Given the description of an element on the screen output the (x, y) to click on. 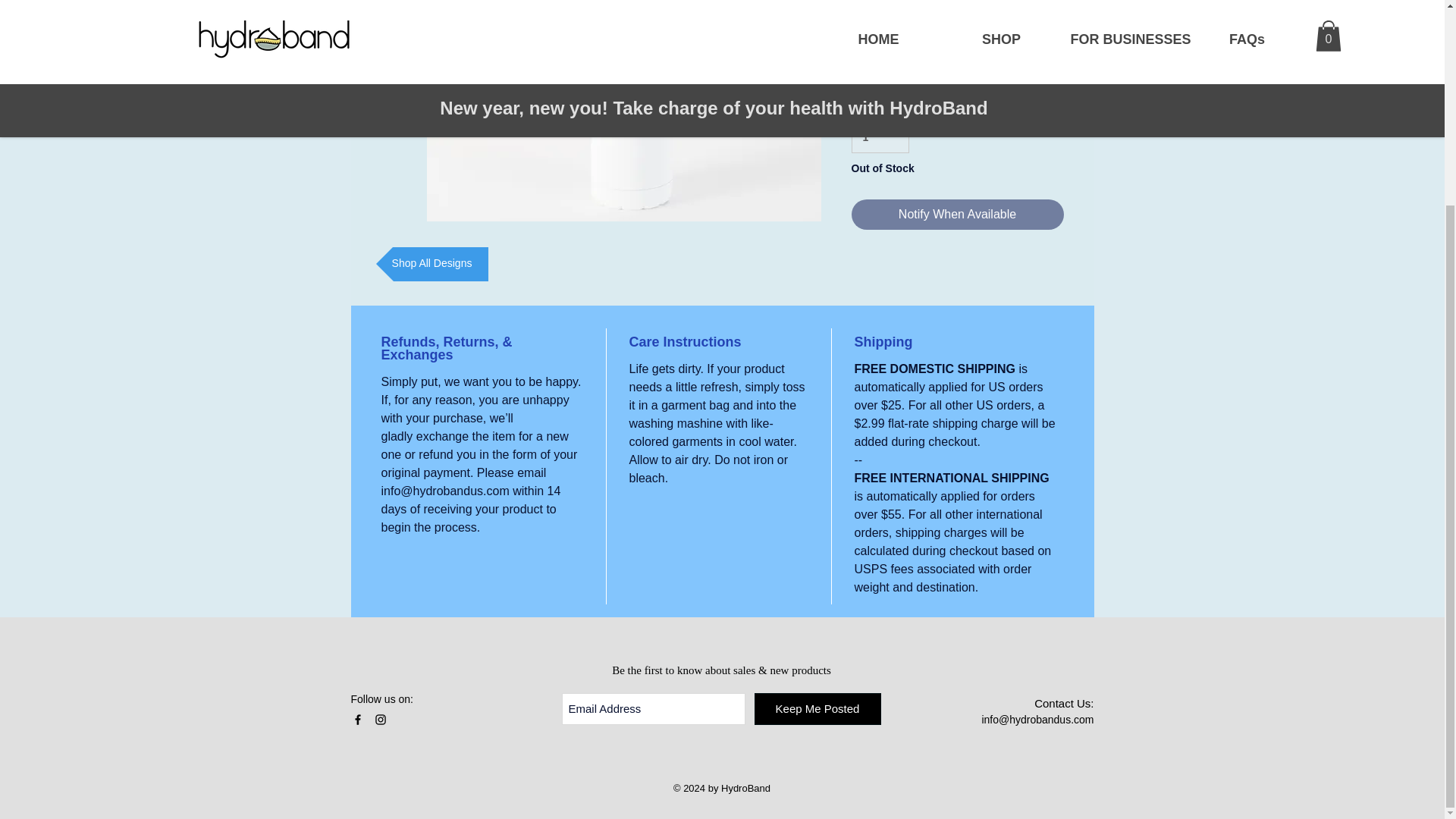
Notify When Available (956, 214)
Keep Me Posted (817, 708)
1 (879, 137)
Read more (956, 25)
Shop All Designs (431, 264)
